Given the description of an element on the screen output the (x, y) to click on. 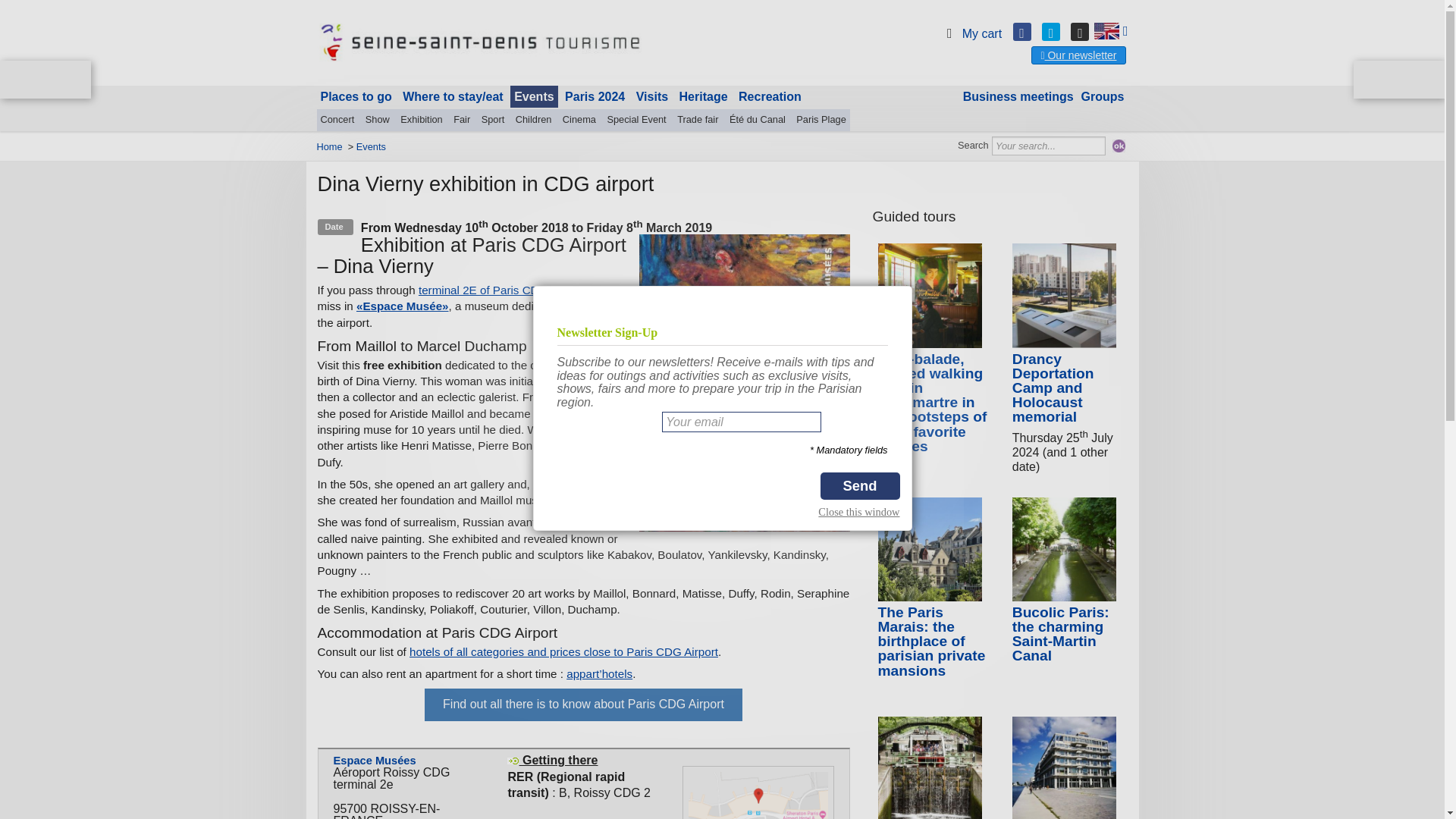
Sport (492, 119)
Fair (461, 119)
Children (534, 119)
Exhibition (421, 119)
Places to go (356, 96)
Paris 2024 (594, 96)
Paris Plage (820, 119)
Trade fair (697, 119)
Events (534, 96)
Our newsletter (1077, 54)
 My cart (970, 33)
Show (377, 119)
Concert (337, 119)
Cinema (579, 119)
